Given the description of an element on the screen output the (x, y) to click on. 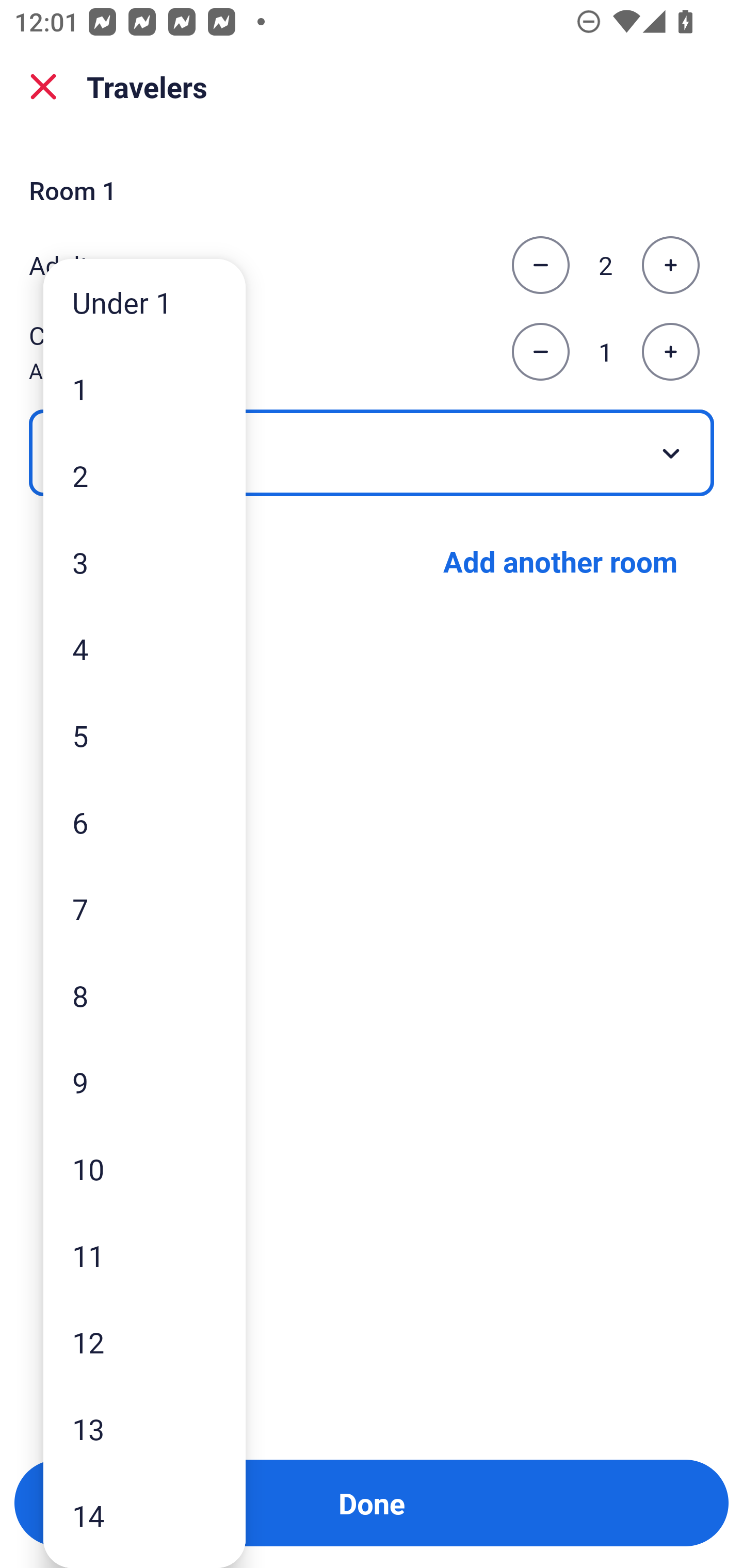
Under 1 (144, 301)
1 (144, 388)
2 (144, 475)
3 (144, 562)
4 (144, 648)
5 (144, 735)
6 (144, 822)
7 (144, 908)
8 (144, 994)
9 (144, 1081)
10 (144, 1168)
11 (144, 1255)
12 (144, 1342)
13 (144, 1429)
14 (144, 1515)
